Given the description of an element on the screen output the (x, y) to click on. 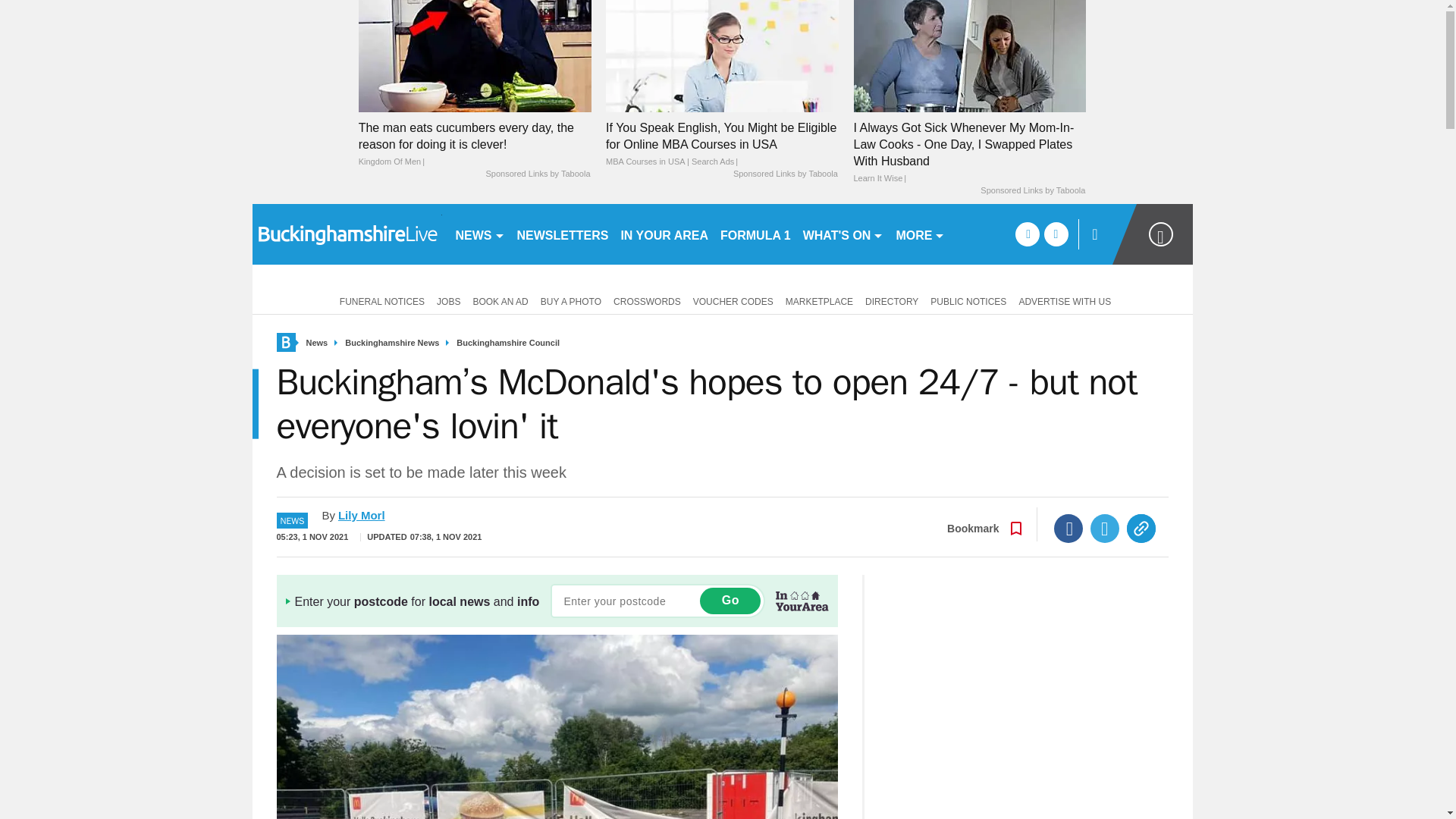
FUNERAL NOTICES (378, 300)
BOOK AN AD (499, 300)
JOBS (447, 300)
twitter (1055, 233)
Sponsored Links by Taboola (1031, 190)
NEWSLETTERS (562, 233)
BUY A PHOTO (570, 300)
facebook (1026, 233)
Sponsored Links by Taboola (785, 174)
NEWS (479, 233)
Go (730, 601)
IN YOUR AREA (664, 233)
buckinghamshirelive (346, 233)
